Given the description of an element on the screen output the (x, y) to click on. 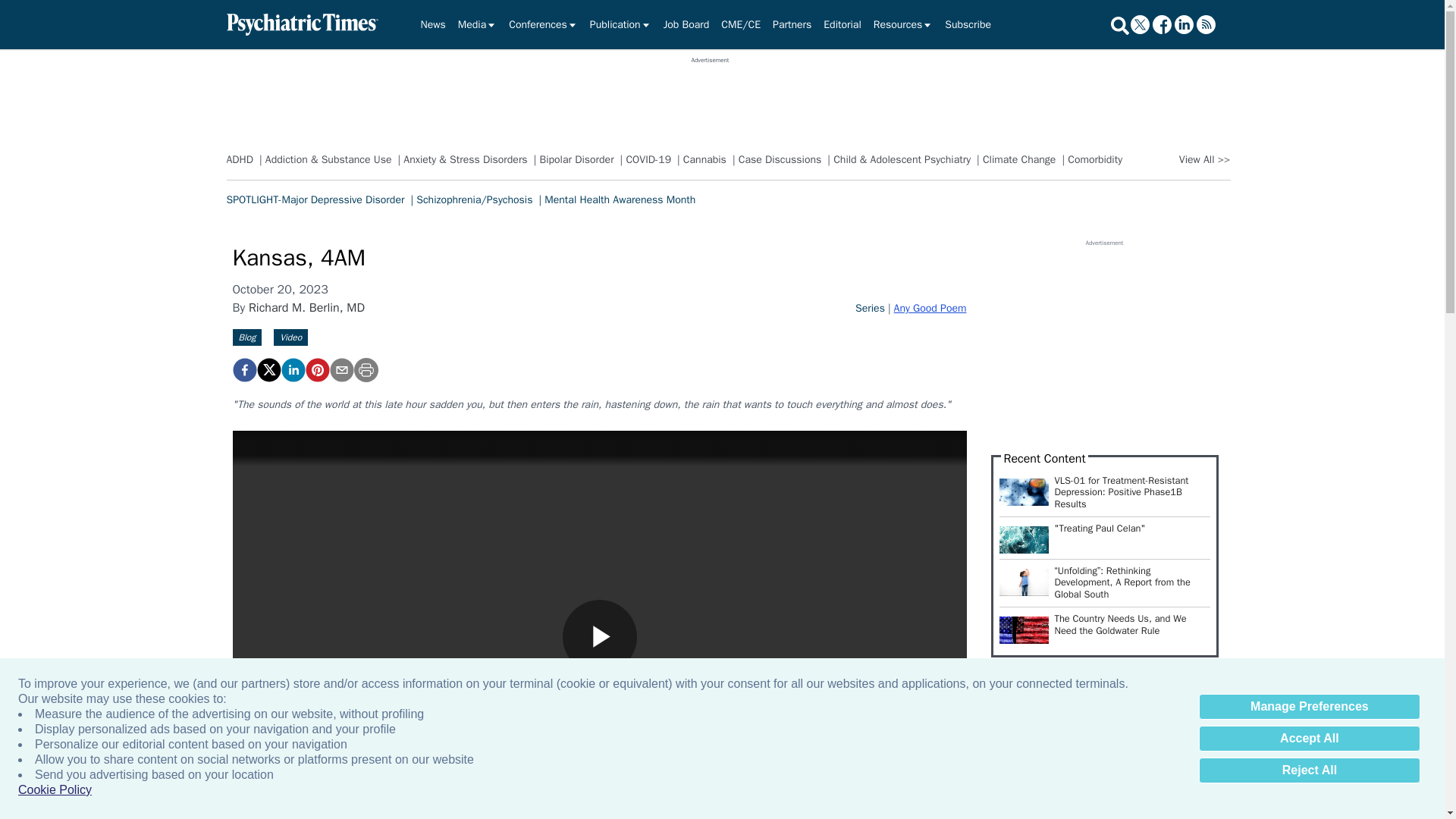
News (432, 23)
Job Board (686, 23)
Kansas, 4AM (243, 369)
Manage Preferences (1309, 706)
Kansas, 4AM (316, 369)
Accept All (1309, 738)
Cookie Policy (54, 789)
Play Video (599, 636)
Subscribe (967, 23)
3rd party ad content (709, 98)
